Given the description of an element on the screen output the (x, y) to click on. 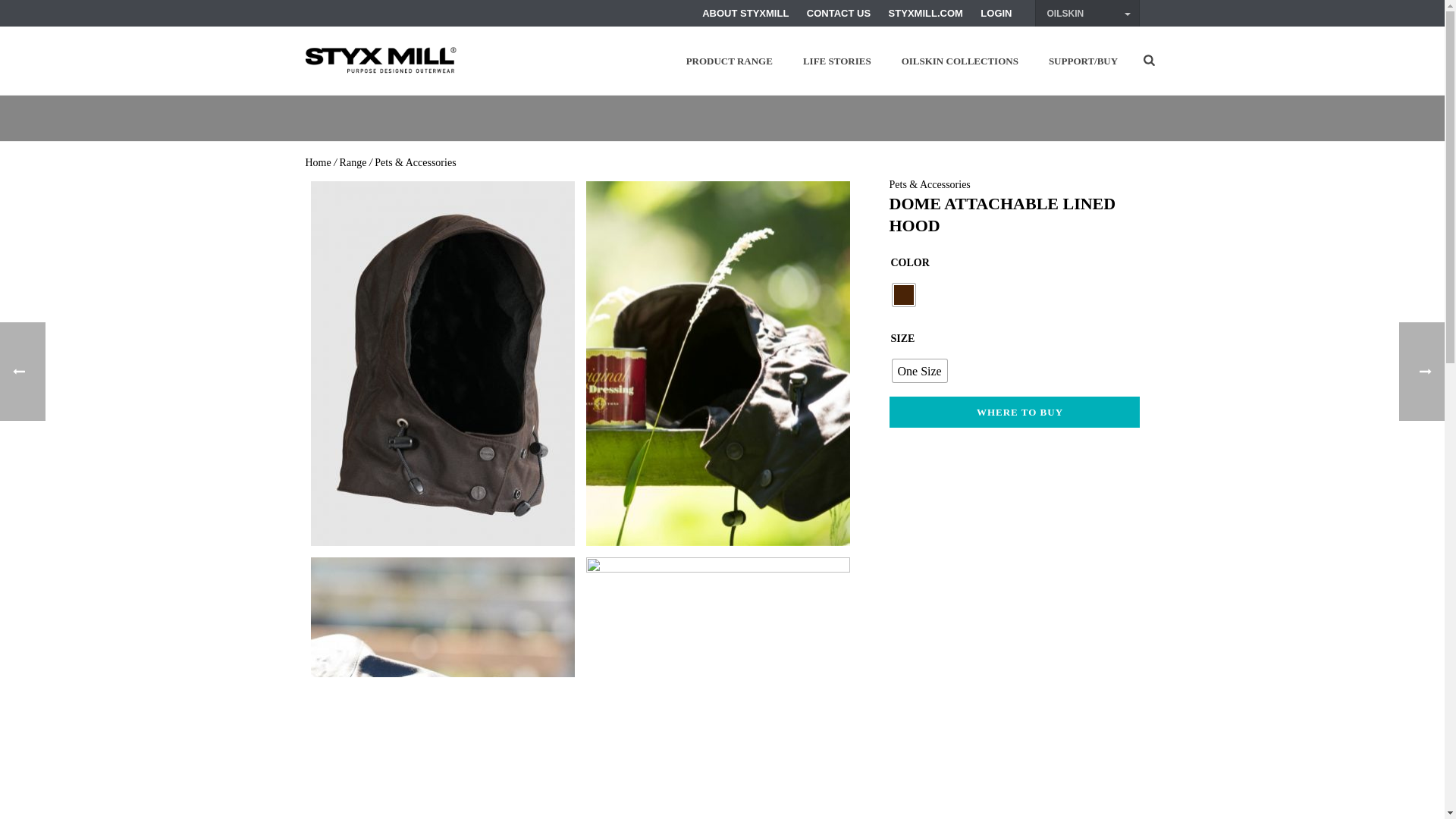
LOGIN (995, 12)
Purpose Designed Outerwear (380, 60)
CONTACT US (838, 12)
STYXMILL.COM (925, 12)
23H-web3.jpg (443, 688)
23H-web4.jpg (718, 688)
LIFE STORIES (836, 61)
PRODUCT RANGE (729, 61)
Brown (902, 294)
OILSKIN COLLECTIONS (959, 61)
